Given the description of an element on the screen output the (x, y) to click on. 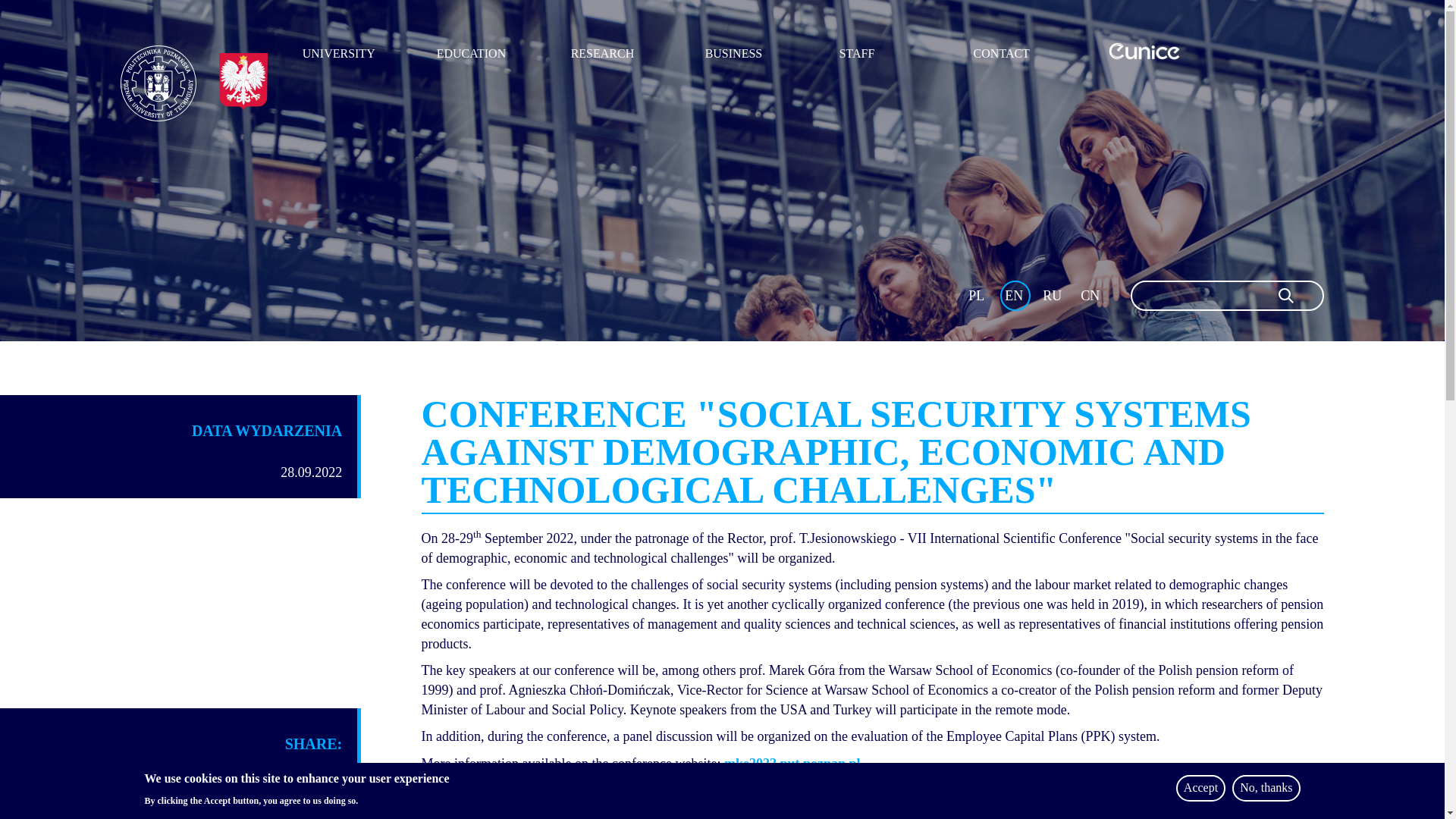
Share to Linkedin (323, 780)
Search (1285, 295)
Home (158, 83)
Share to X (285, 780)
EDUCATION (493, 49)
UNIVERSITY (359, 49)
Share to Facebook (247, 780)
Change language to English (1015, 295)
